Given the description of an element on the screen output the (x, y) to click on. 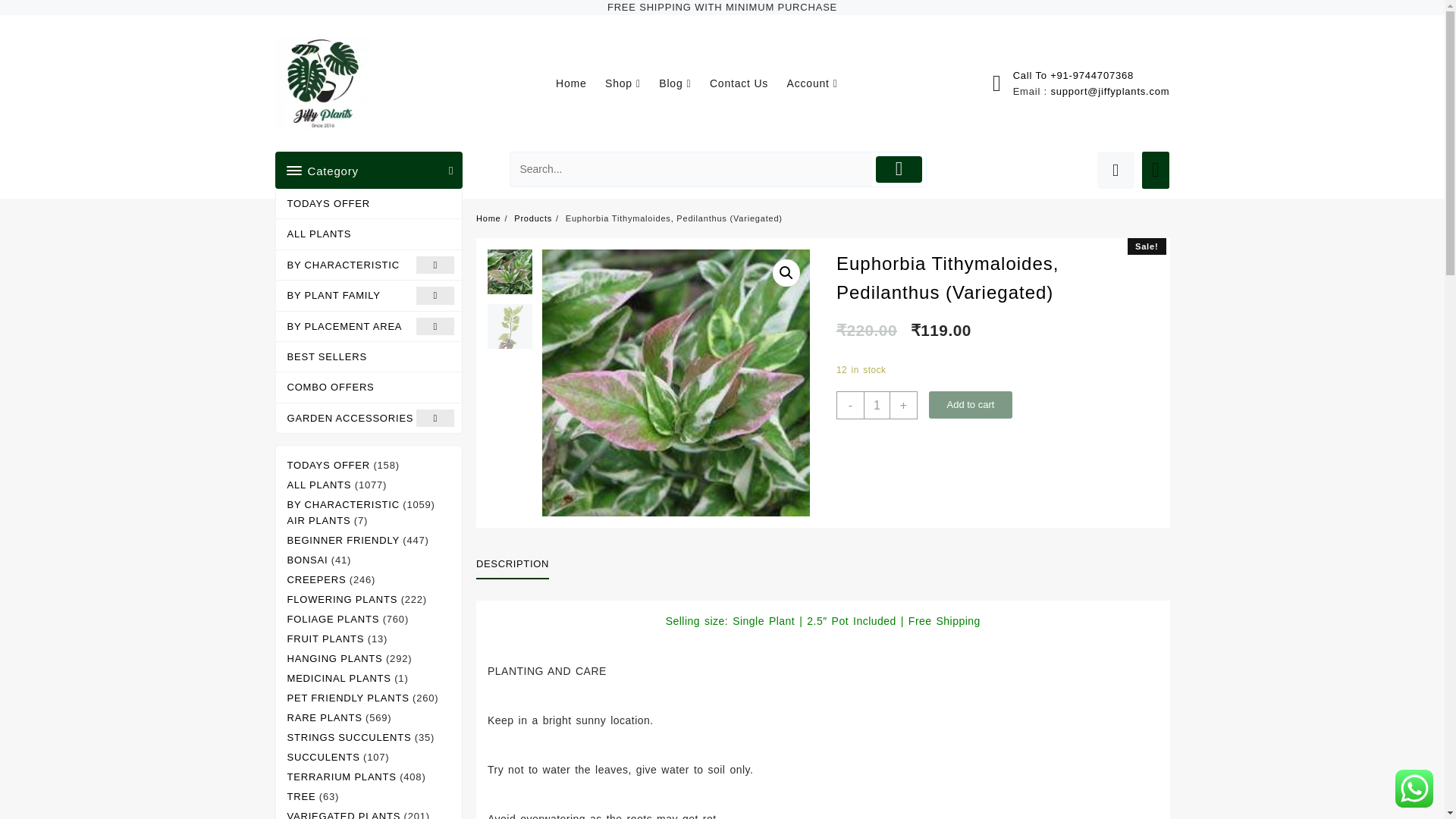
1 (876, 404)
Home (579, 83)
c1f34019-53ac-4e1f-b619-05760ed25c8a-removebg-preview (943, 382)
911148af-103f-45e6-b4c2-0c10a957ec99 (675, 382)
Search (691, 169)
Shop (630, 83)
